Given the description of an element on the screen output the (x, y) to click on. 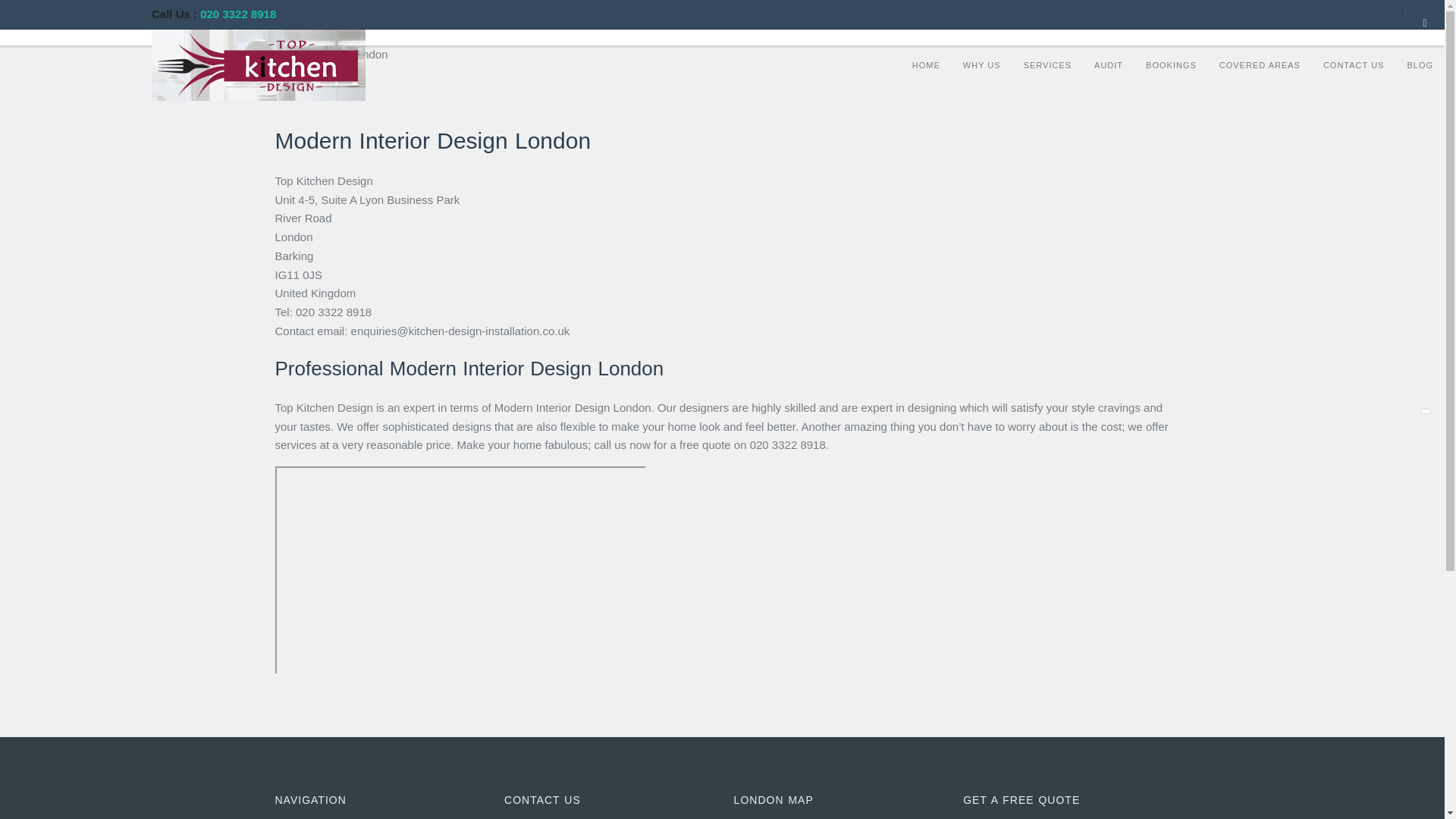
Go to Modern Kitchen Design. (202, 53)
WHY US (981, 64)
SERVICES (1047, 64)
CONTACT US (1353, 64)
COVERED AREAS (1259, 64)
AUDIT (1108, 64)
BOOKINGS (1171, 64)
Home (202, 53)
Call Us : 020 3322 8918 (213, 13)
HOME (926, 64)
